Given the description of an element on the screen output the (x, y) to click on. 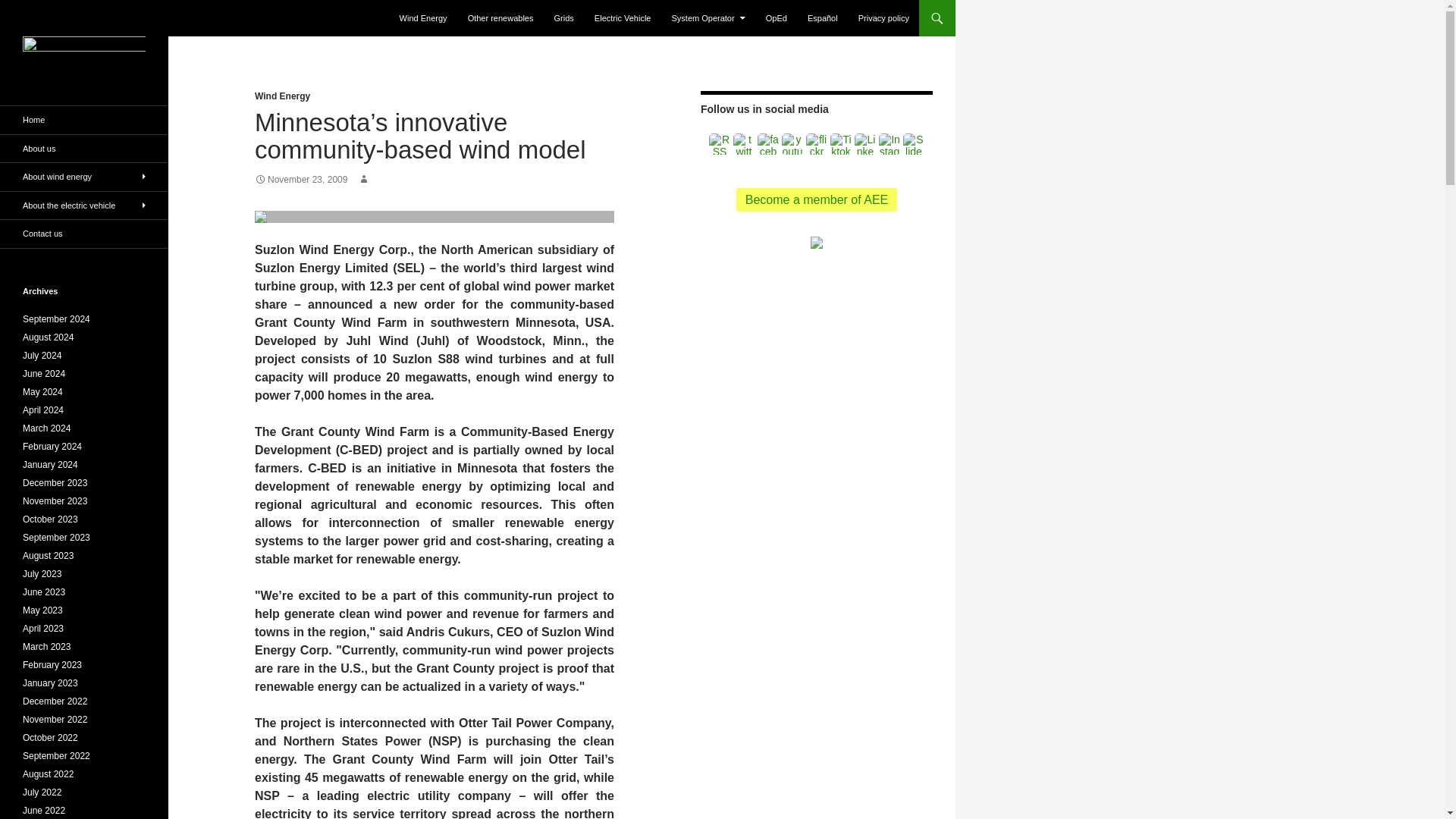
Become a member of AEE (817, 199)
twitter (743, 143)
LinkedIn (865, 143)
facebook (767, 143)
Instagram (889, 143)
Electric Vehicle (623, 18)
Grids (563, 18)
November 23, 2009 (300, 179)
OpEd (776, 18)
youtube (792, 143)
